Given the description of an element on the screen output the (x, y) to click on. 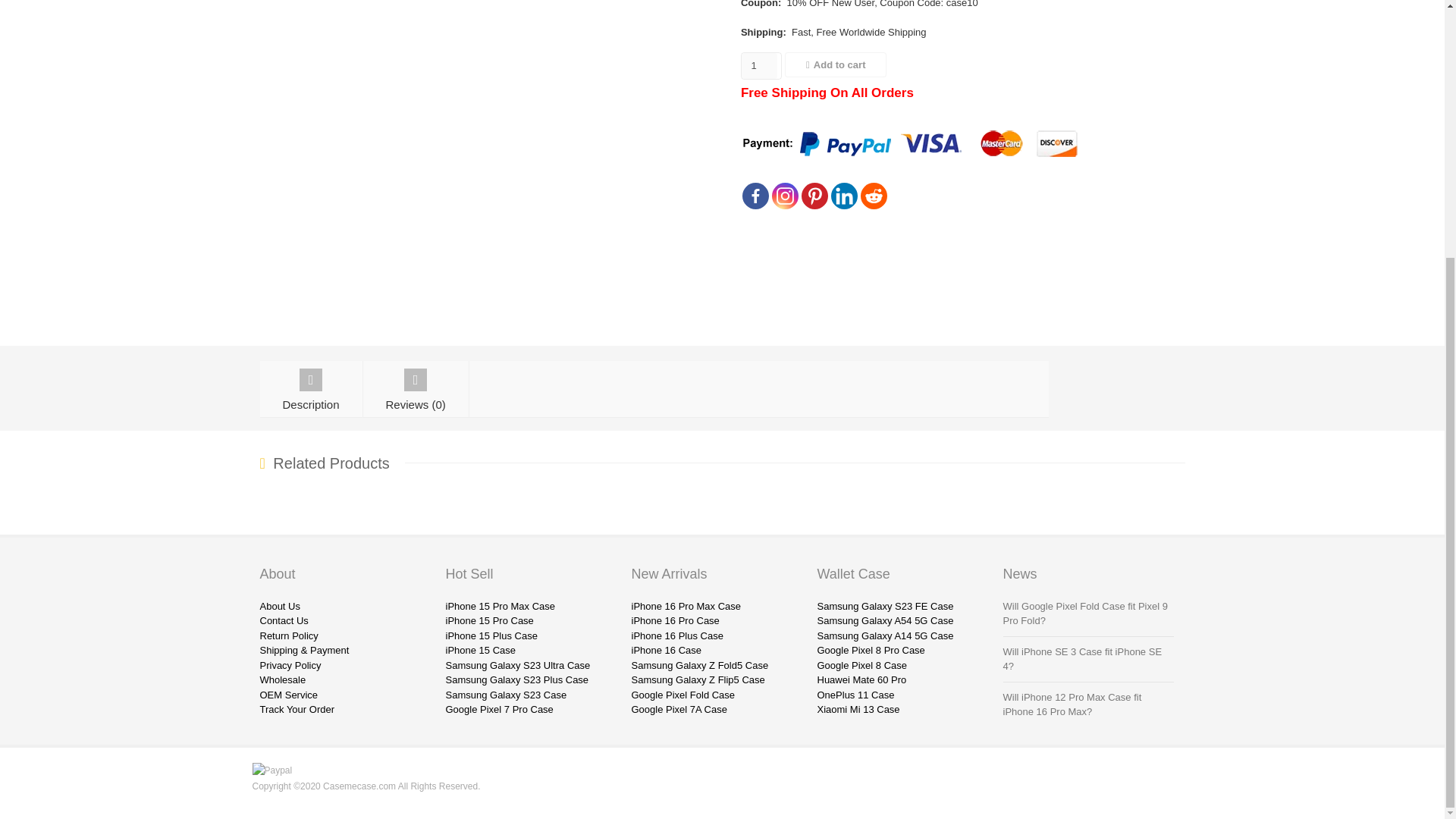
Linkedin (844, 195)
Pinterest (815, 195)
Instagram (784, 195)
1 (759, 65)
Reddit (873, 195)
Facebook (755, 195)
